Given the description of an element on the screen output the (x, y) to click on. 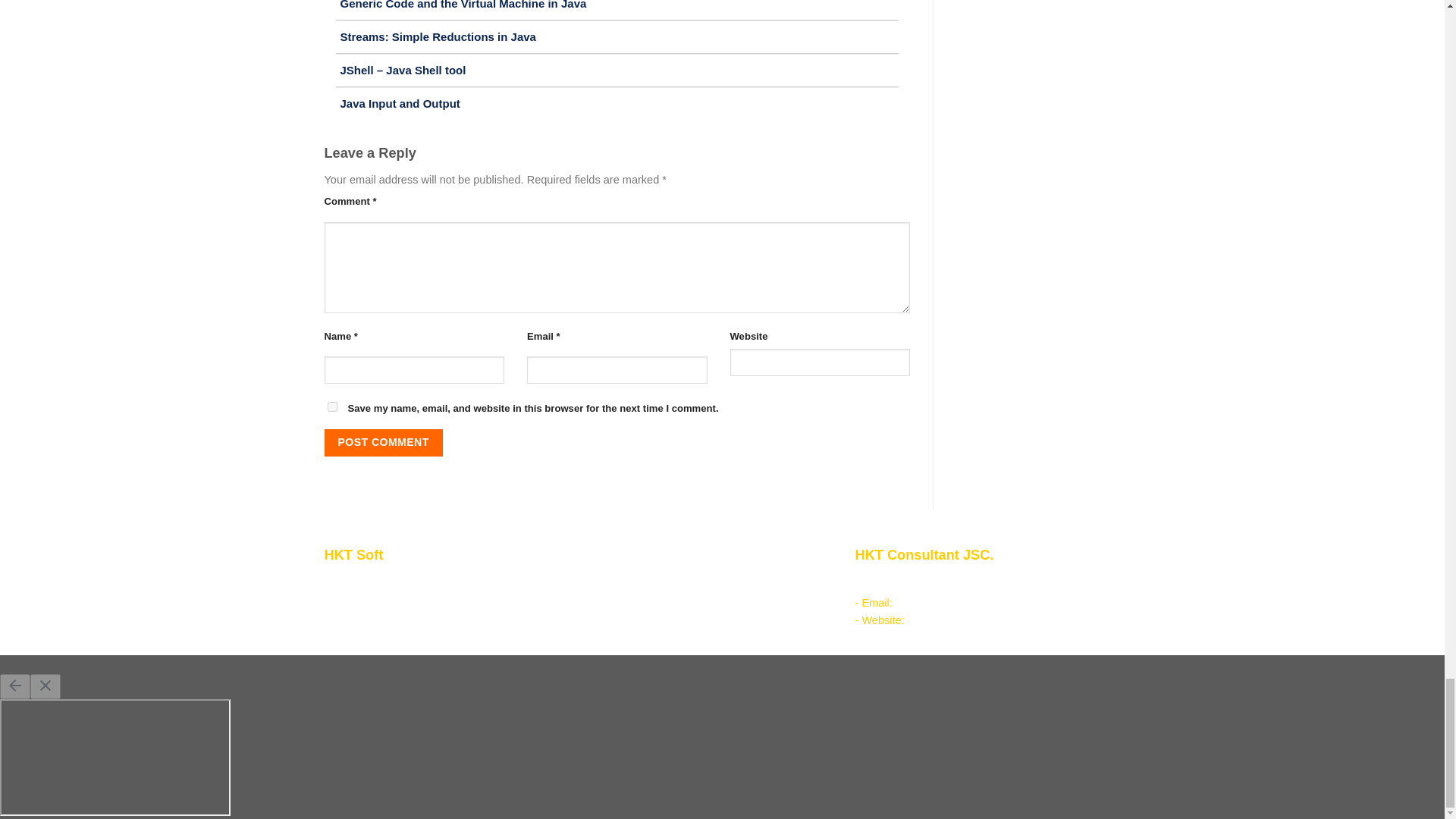
Post Comment (383, 442)
yes (332, 406)
